Given the description of an element on the screen output the (x, y) to click on. 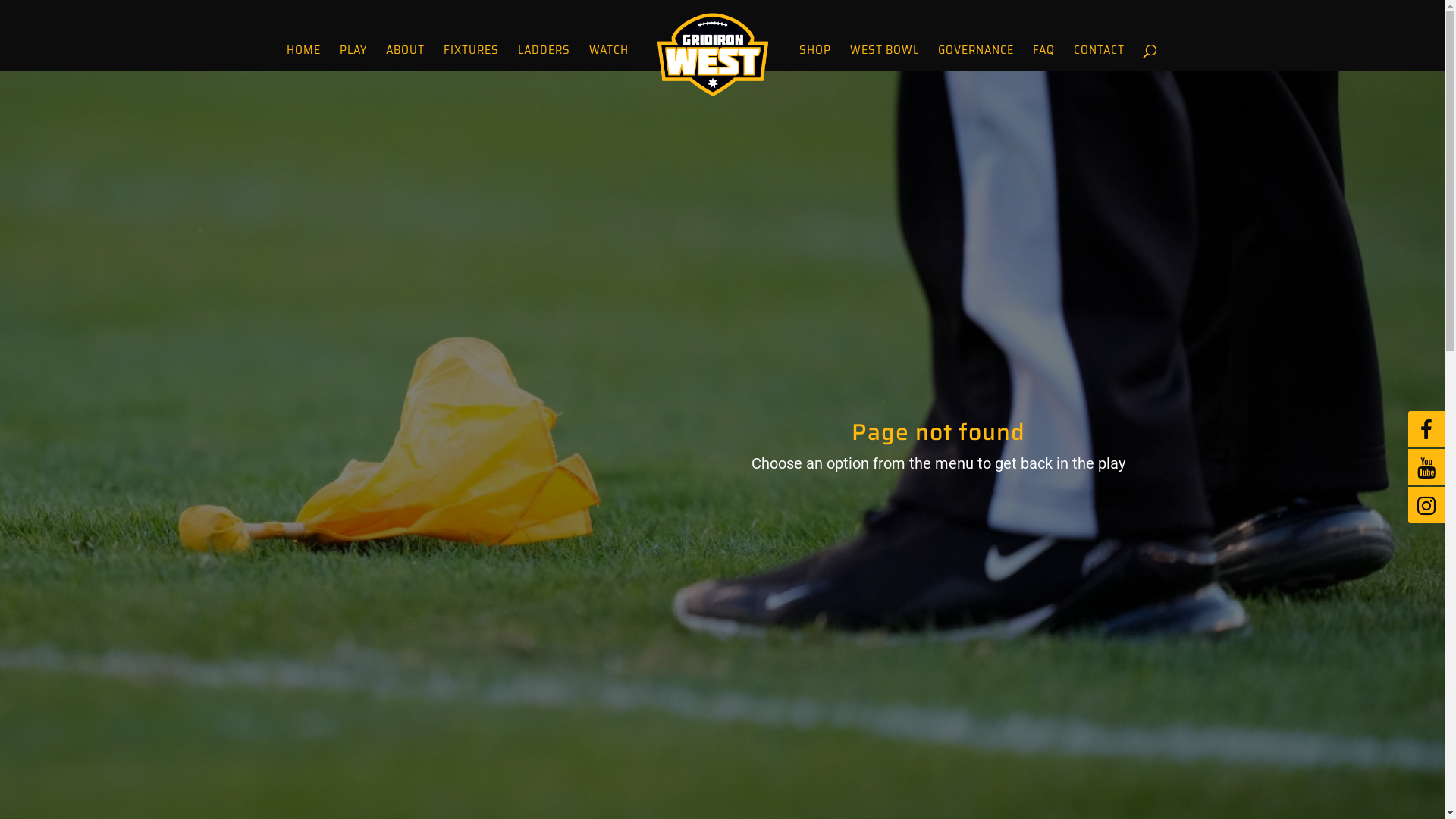
GOVERNANCE Element type: text (975, 57)
ABOUT Element type: text (404, 57)
WATCH Element type: text (607, 57)
WEST BOWL Element type: text (883, 57)
PLAY Element type: text (353, 57)
FIXTURES Element type: text (470, 57)
CONTACT Element type: text (1098, 57)
LADDERS Element type: text (543, 57)
SHOP Element type: text (815, 57)
FAQ Element type: text (1043, 57)
HOME Element type: text (303, 57)
